Given the description of an element on the screen output the (x, y) to click on. 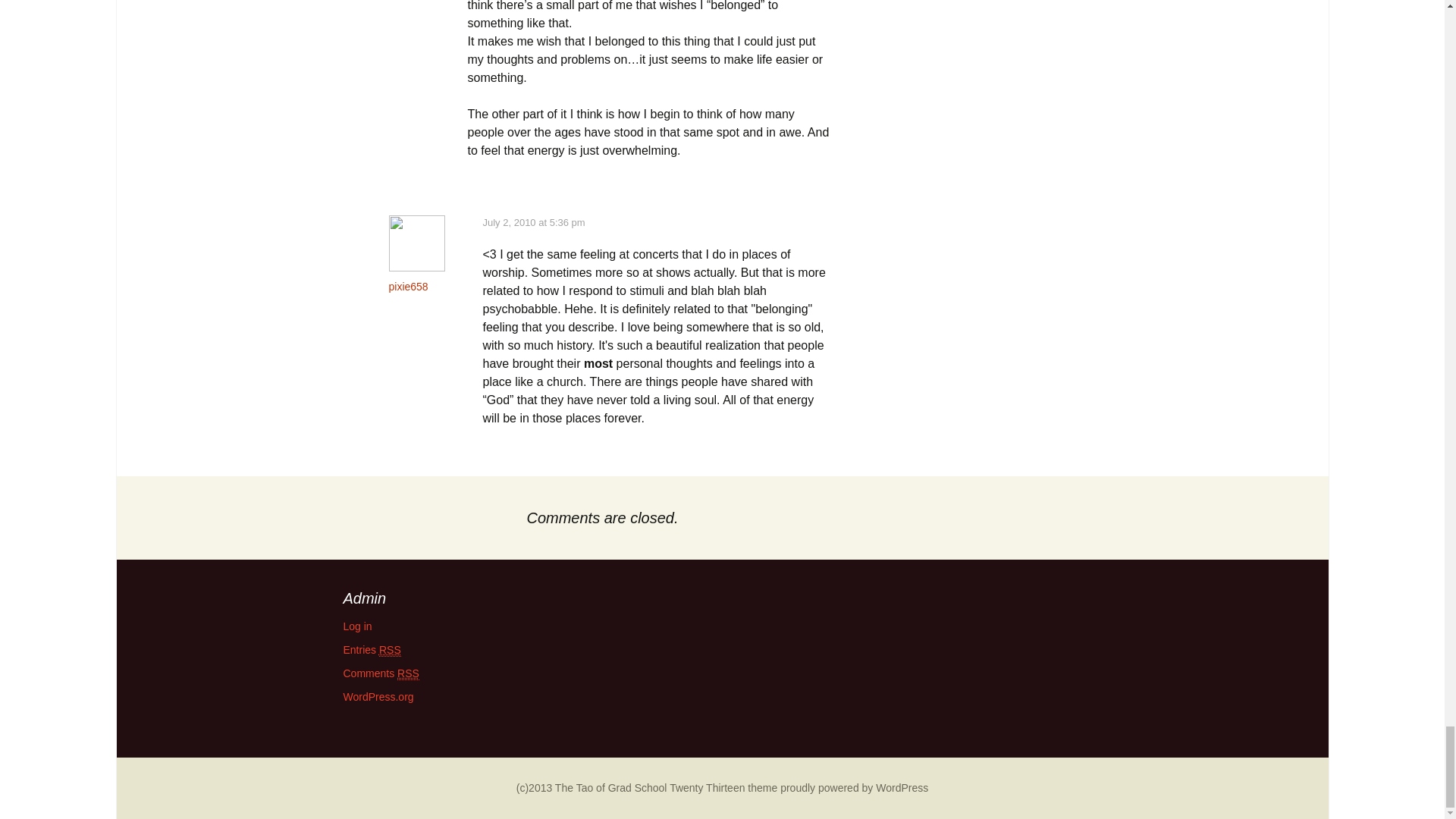
Really Simple Syndication (408, 673)
Semantic Personal Publishing Platform (798, 787)
Really Simple Syndication (389, 649)
